Given the description of an element on the screen output the (x, y) to click on. 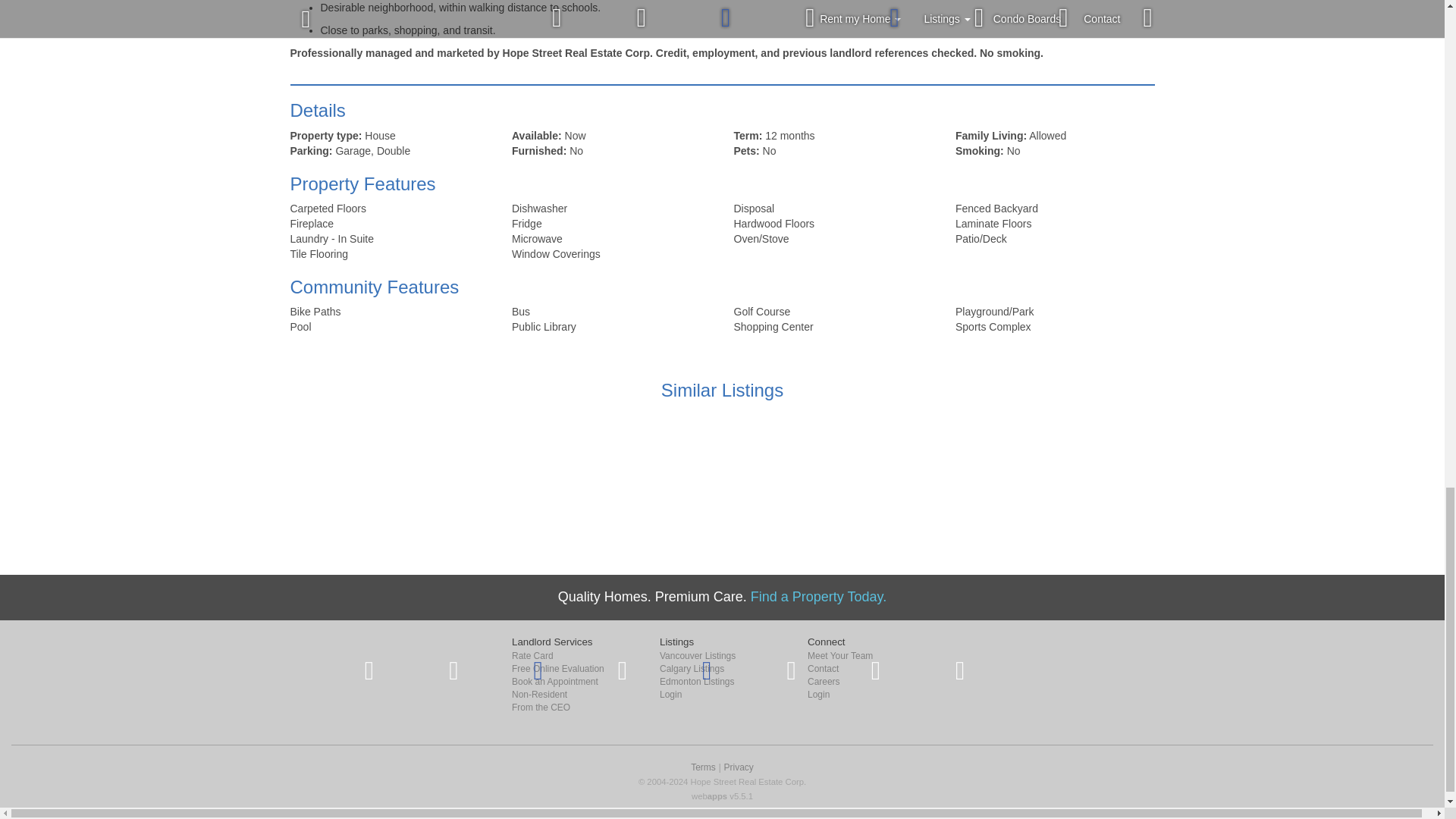
Rate Card (574, 656)
From the CEO (574, 707)
Book an Appointment (574, 681)
Find a Property Today. (818, 596)
Non-Resident (574, 694)
Free Online Evaluation (574, 668)
